Given the description of an element on the screen output the (x, y) to click on. 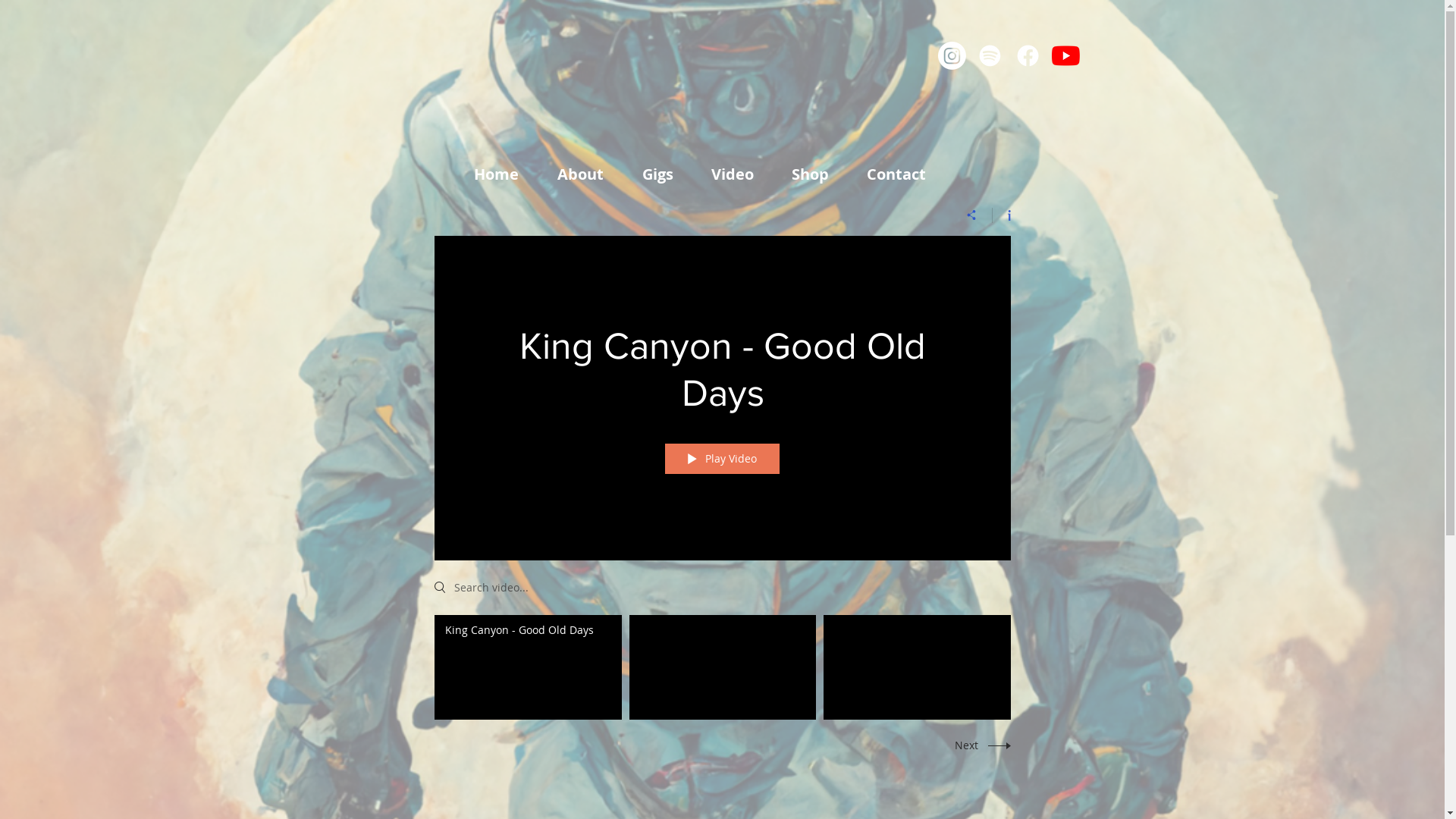
Home Element type: text (504, 174)
Gigs Element type: text (664, 174)
Video Element type: text (739, 174)
Next Element type: text (977, 744)
Play Video Element type: text (721, 458)
Shop Element type: text (816, 174)
Contact Element type: text (903, 174)
About Element type: text (588, 174)
